Given the description of an element on the screen output the (x, y) to click on. 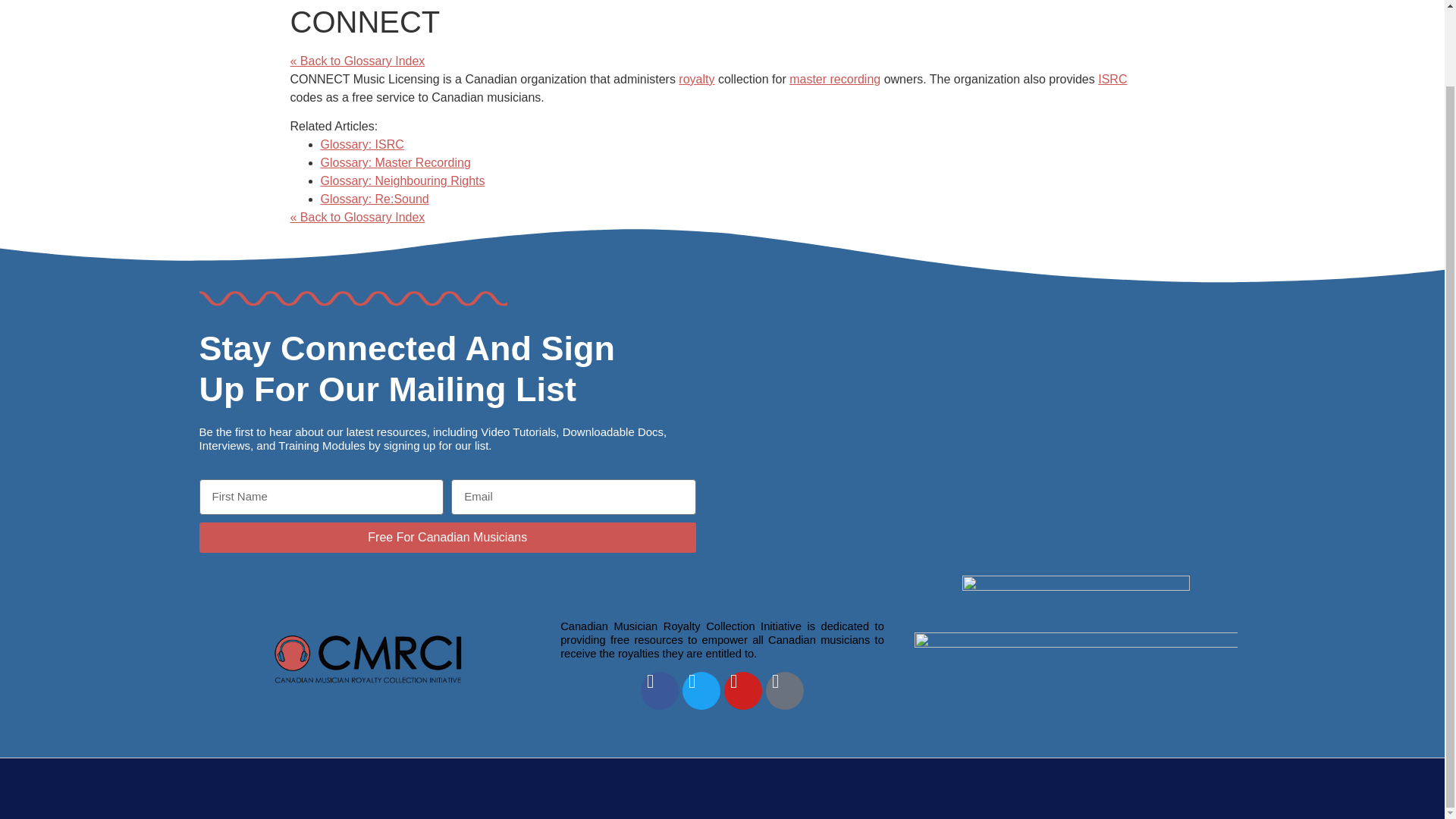
master recording (834, 78)
ISRC (1111, 78)
Glossary: ISRC (361, 144)
Free For Canadian Musicians (446, 537)
Glossary: Re:Sound (374, 198)
Glossary: Master Recording (395, 162)
Glossary: Neighbouring Rights (402, 180)
royalty (696, 78)
